Given the description of an element on the screen output the (x, y) to click on. 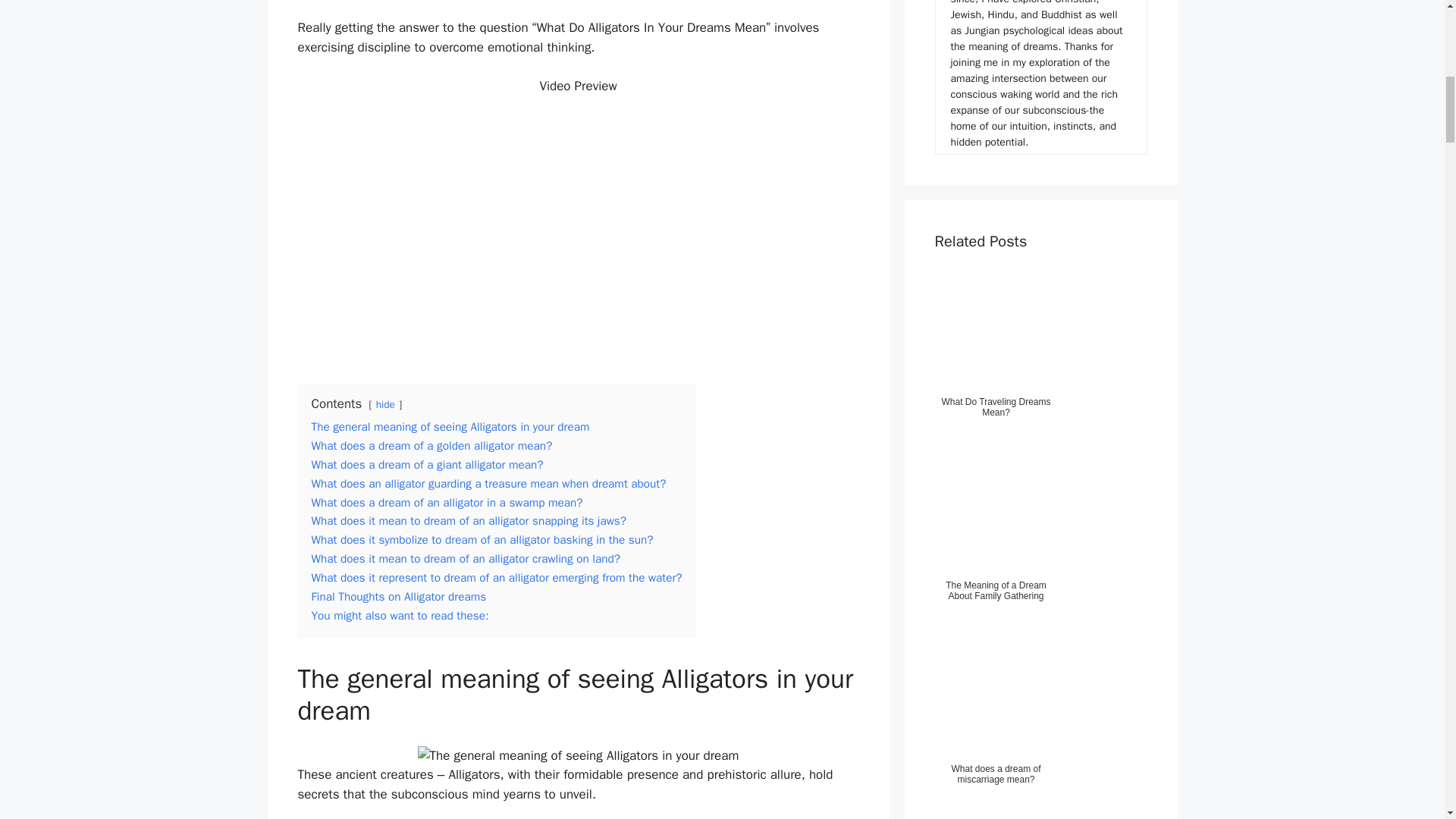
What does a dream of a giant alligator mean? (427, 464)
What does a dream of an alligator in a swamp mean? (446, 501)
You might also want to read these: (399, 615)
What does it mean to dream of an alligator crawling on land? (465, 558)
hide (384, 404)
YouTube video player (577, 234)
What does a dream of a golden alligator mean? (431, 445)
The general meaning of seeing Alligators in your dream (450, 426)
Final Thoughts on Alligator dreams (398, 596)
